Given the description of an element on the screen output the (x, y) to click on. 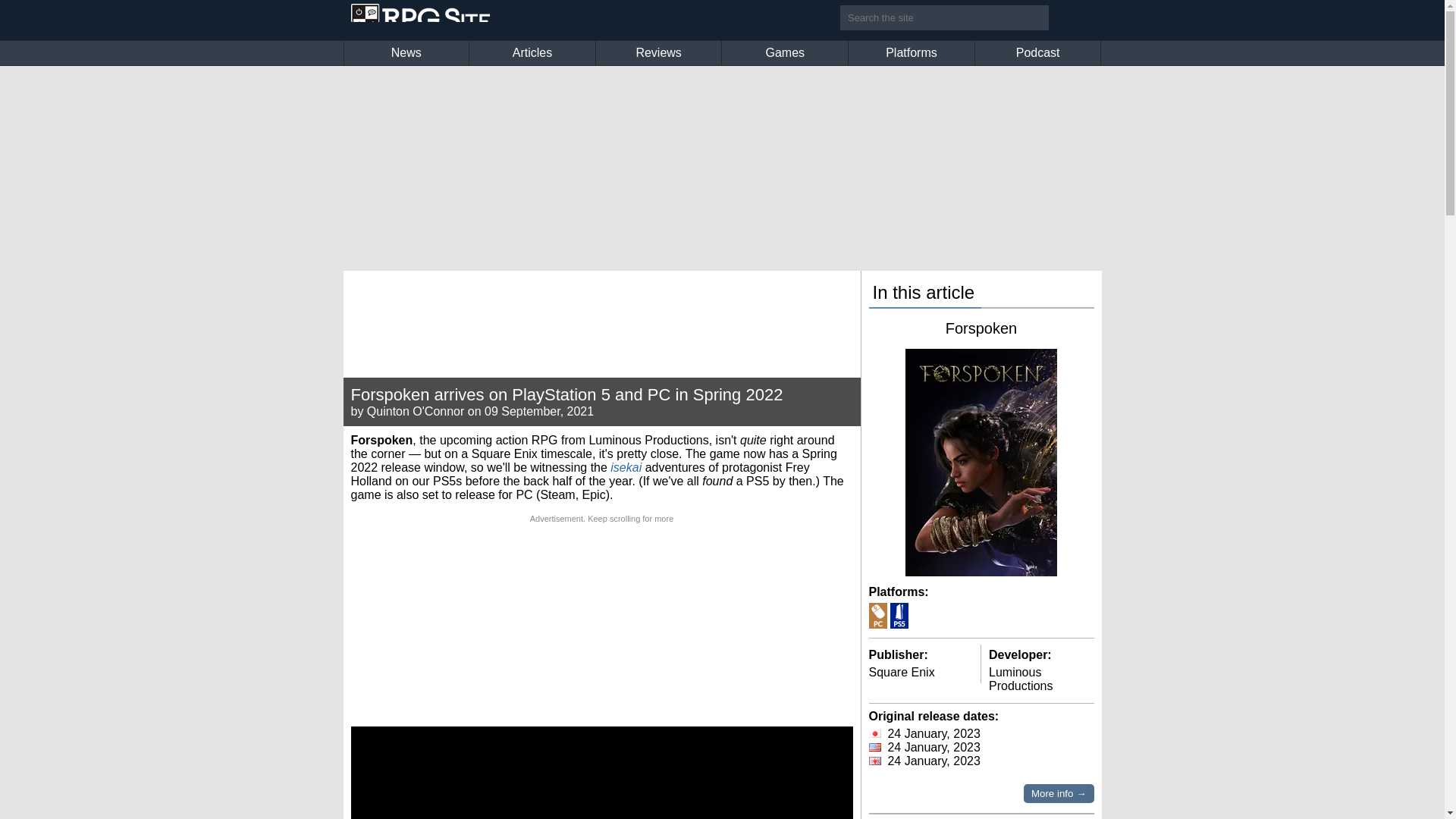
Articles (531, 52)
Platforms (911, 52)
Games (784, 52)
Reviews (658, 52)
Podcast (1037, 52)
isekai (626, 467)
Forspoken (980, 328)
Quinton O'Connor (415, 410)
News (405, 52)
